Given the description of an element on the screen output the (x, y) to click on. 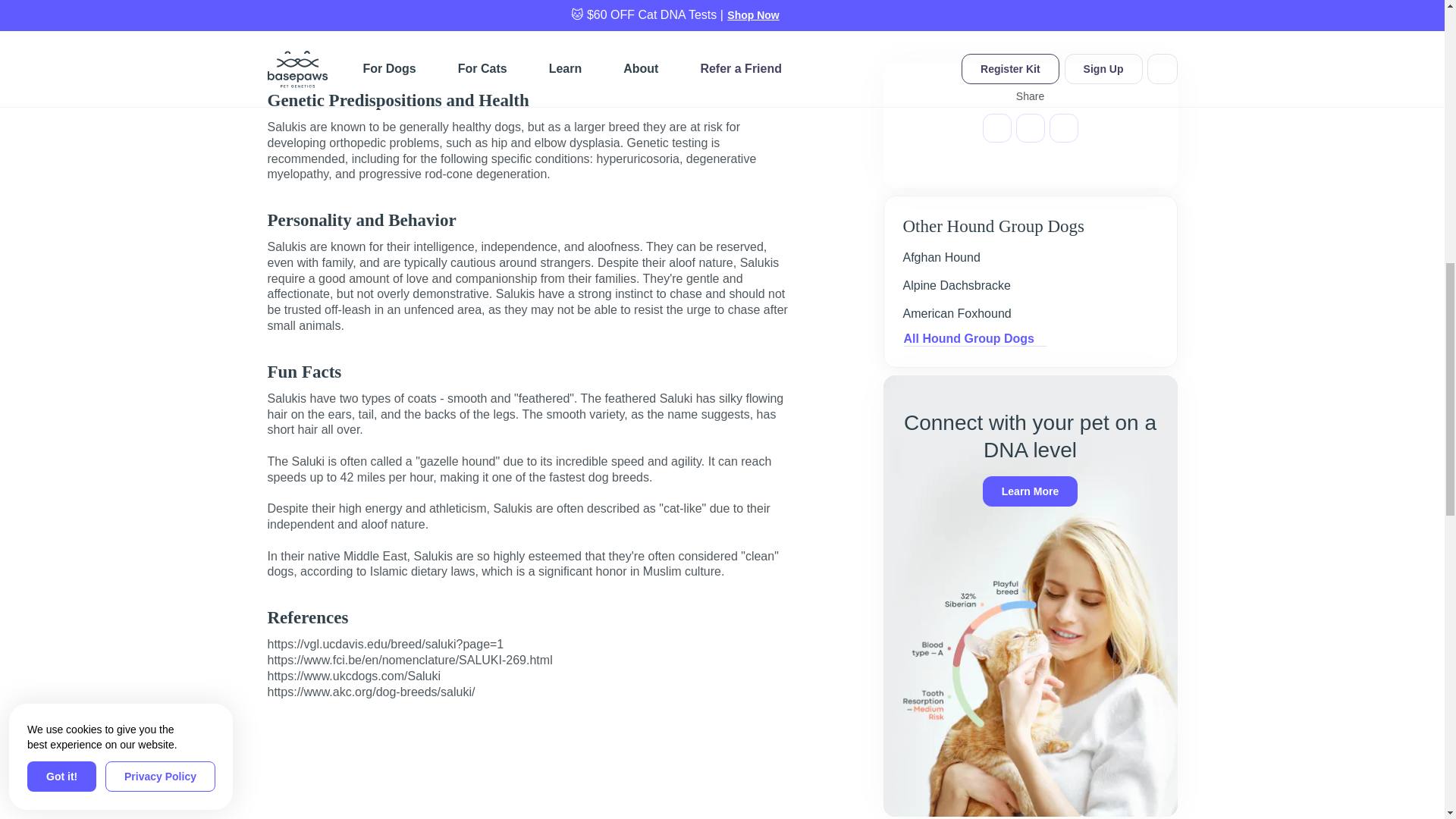
Alpine Dachsbracke (956, 285)
American Foxhound (956, 313)
Afghan Hound (940, 257)
